Given the description of an element on the screen output the (x, y) to click on. 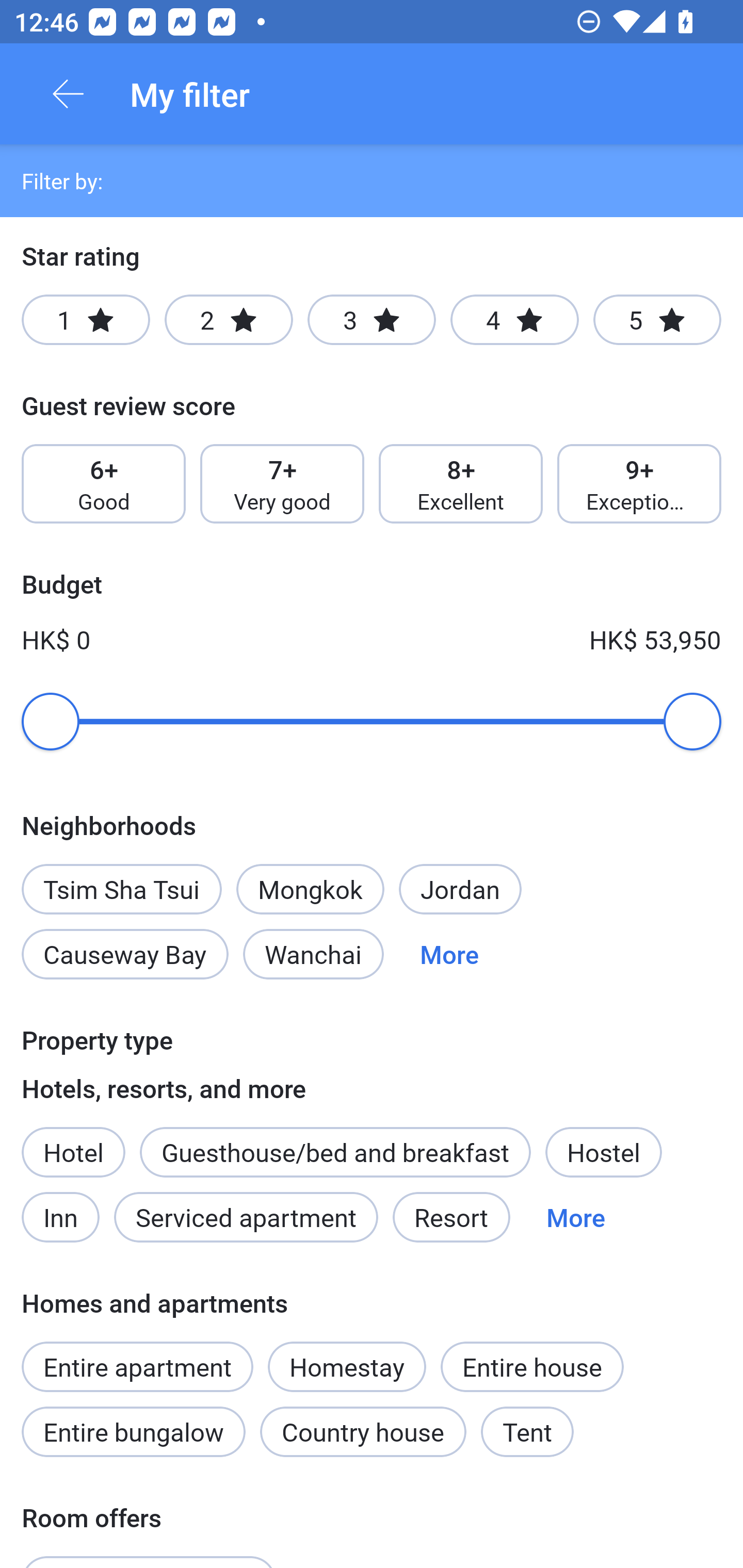
1 (85, 319)
2 (228, 319)
3 (371, 319)
4 (514, 319)
5 (657, 319)
6+ Good (103, 483)
7+ Very good (281, 483)
8+ Excellent (460, 483)
9+ Exceptional (639, 483)
Tsim Sha Tsui (121, 878)
Mongkok (310, 888)
Jordan (459, 888)
Causeway Bay (124, 954)
Wanchai (313, 954)
More (449, 954)
Hotel (73, 1151)
Guesthouse/bed and breakfast (335, 1151)
Hostel (603, 1151)
Inn (62, 1217)
Serviced apartment (245, 1217)
Resort (451, 1217)
More (575, 1217)
Entire apartment (137, 1366)
Homestay (346, 1356)
Entire house (532, 1366)
Entire bungalow (133, 1432)
Country house (363, 1432)
Tent (526, 1432)
